Given the description of an element on the screen output the (x, y) to click on. 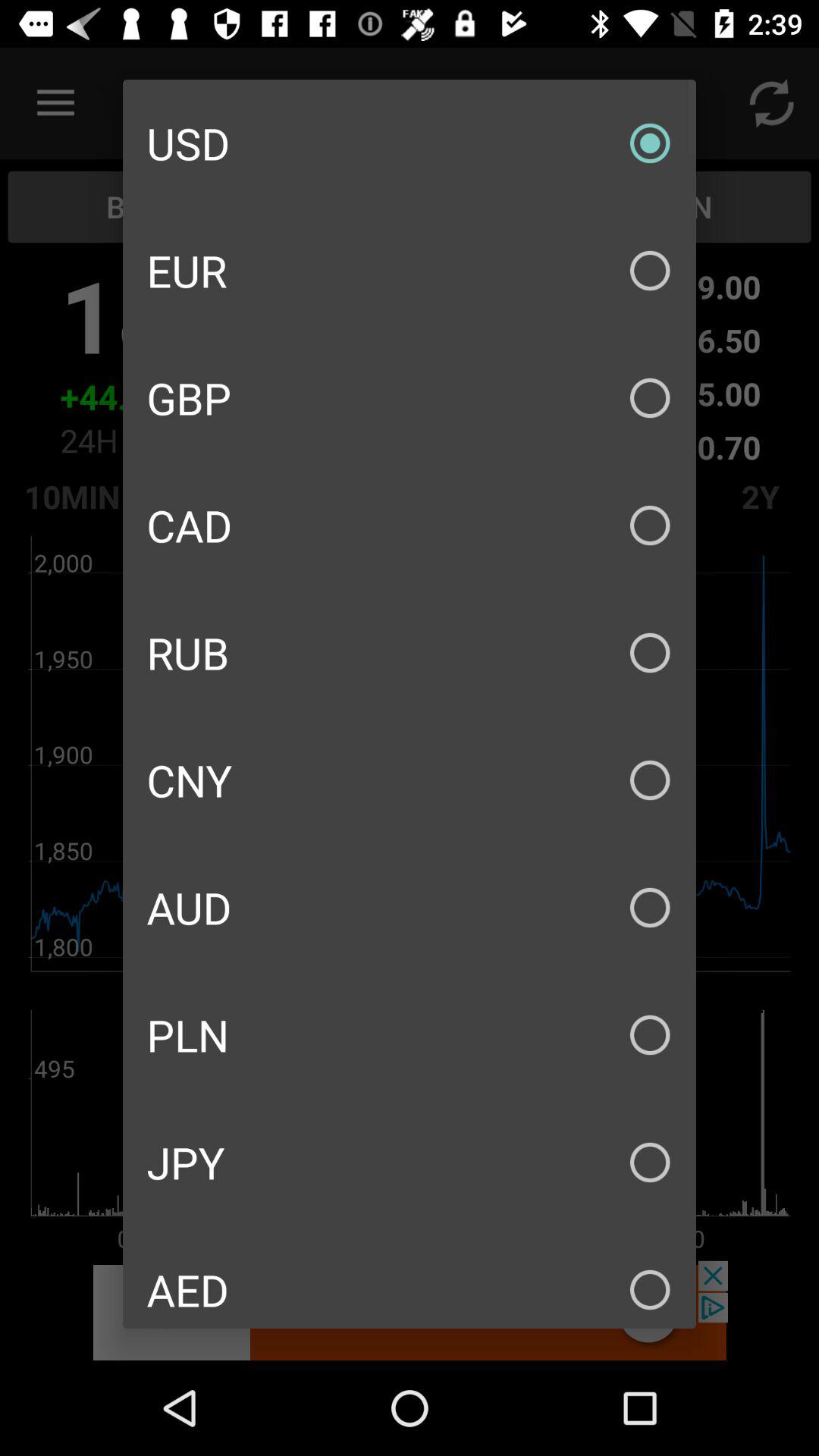
jump to the usd (409, 143)
